Given the description of an element on the screen output the (x, y) to click on. 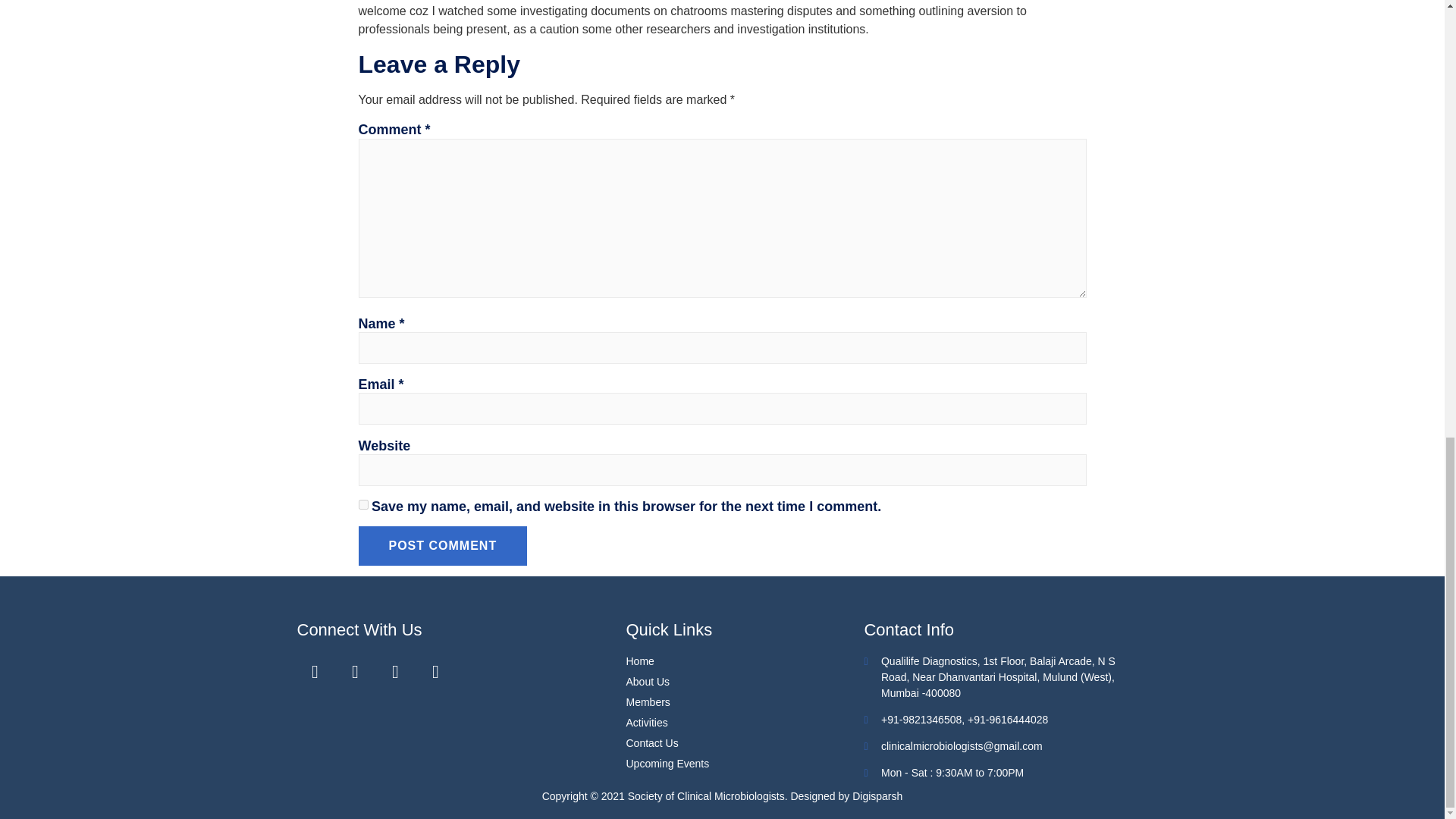
yes (363, 504)
Upcoming Events (744, 763)
Post Comment (442, 545)
Activities (744, 722)
Members (744, 702)
Contact Us (744, 743)
Home (744, 661)
About Us (744, 682)
Post Comment (442, 545)
